Given the description of an element on the screen output the (x, y) to click on. 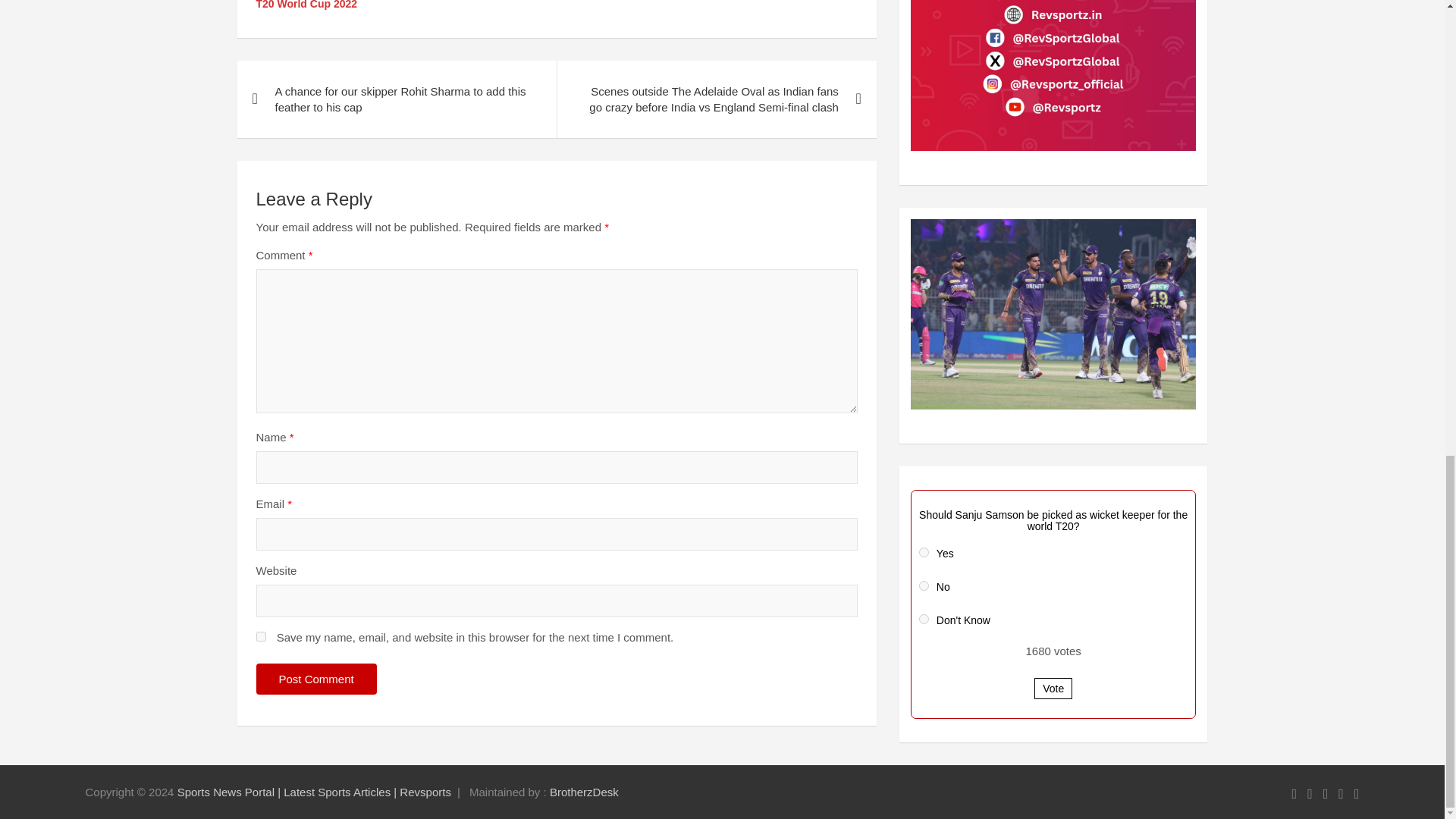
Post Comment (316, 678)
30 (923, 585)
yes (261, 636)
29 (923, 552)
31 (923, 619)
